Given the description of an element on the screen output the (x, y) to click on. 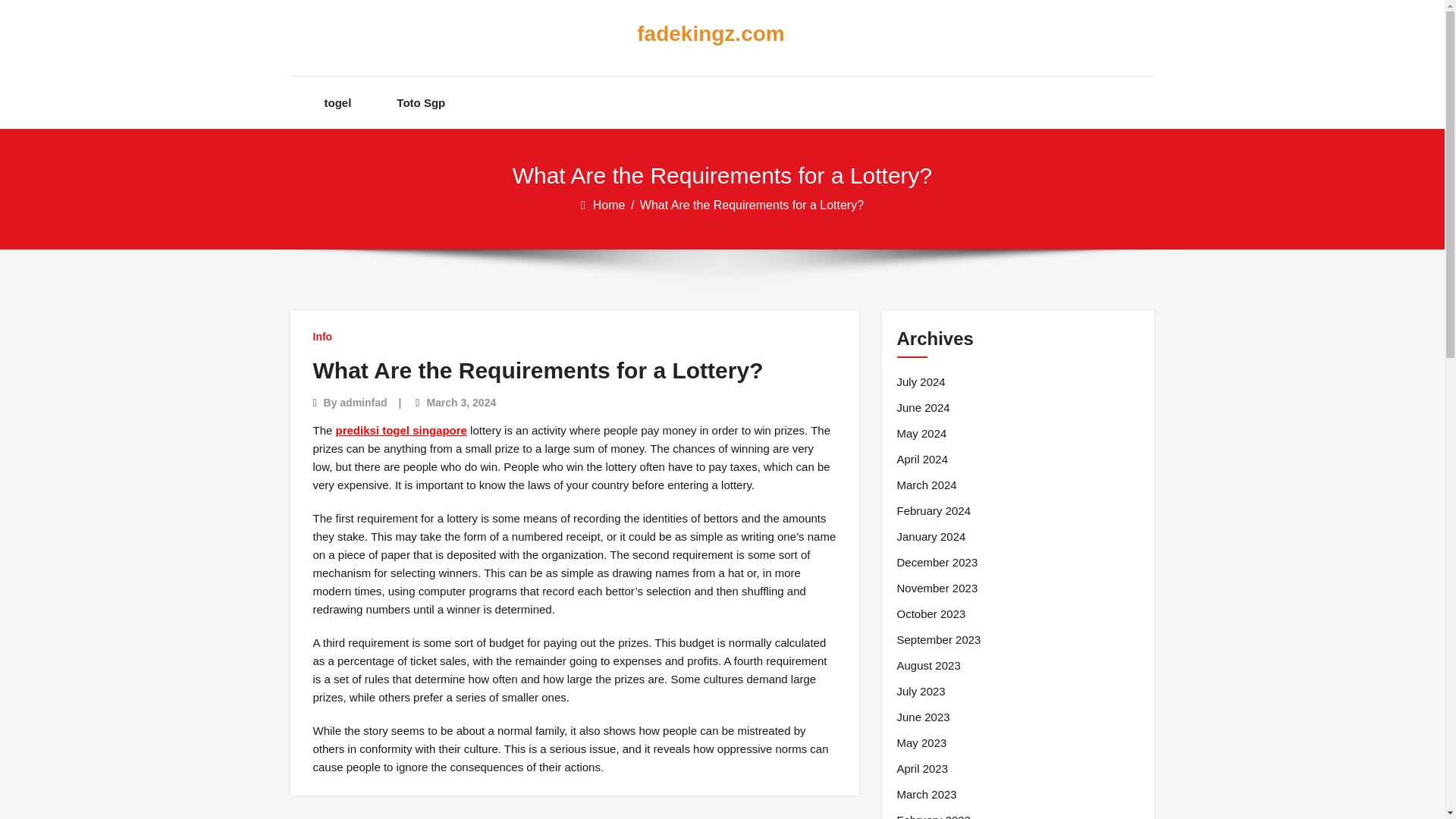
July 2024 (920, 382)
February 2023 (933, 815)
January 2024 (930, 536)
Info (322, 336)
June 2024 (922, 407)
prediksi togel singapore (401, 430)
October 2023 (930, 614)
fadekingz.com (710, 34)
adminfad (363, 402)
May 2024 (921, 434)
September 2023 (937, 639)
February 2024 (933, 511)
May 2023 (921, 742)
April 2024 (921, 459)
June 2023 (922, 717)
